Given the description of an element on the screen output the (x, y) to click on. 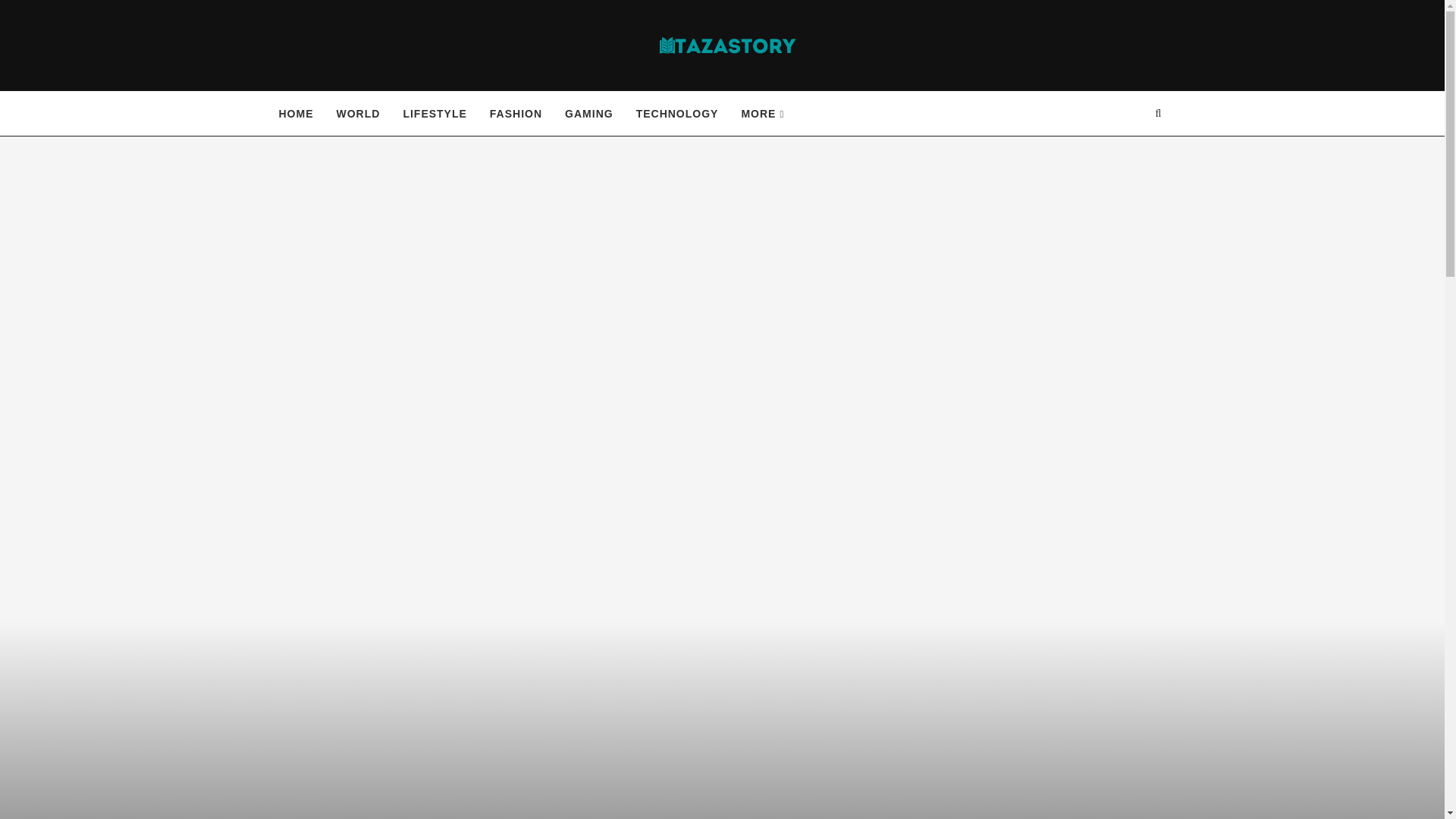
LIFESTYLE (434, 113)
FASHION (515, 113)
TECHNOLOGY (677, 113)
GAMING (588, 113)
MORE (762, 113)
WORLD (358, 113)
